Given the description of an element on the screen output the (x, y) to click on. 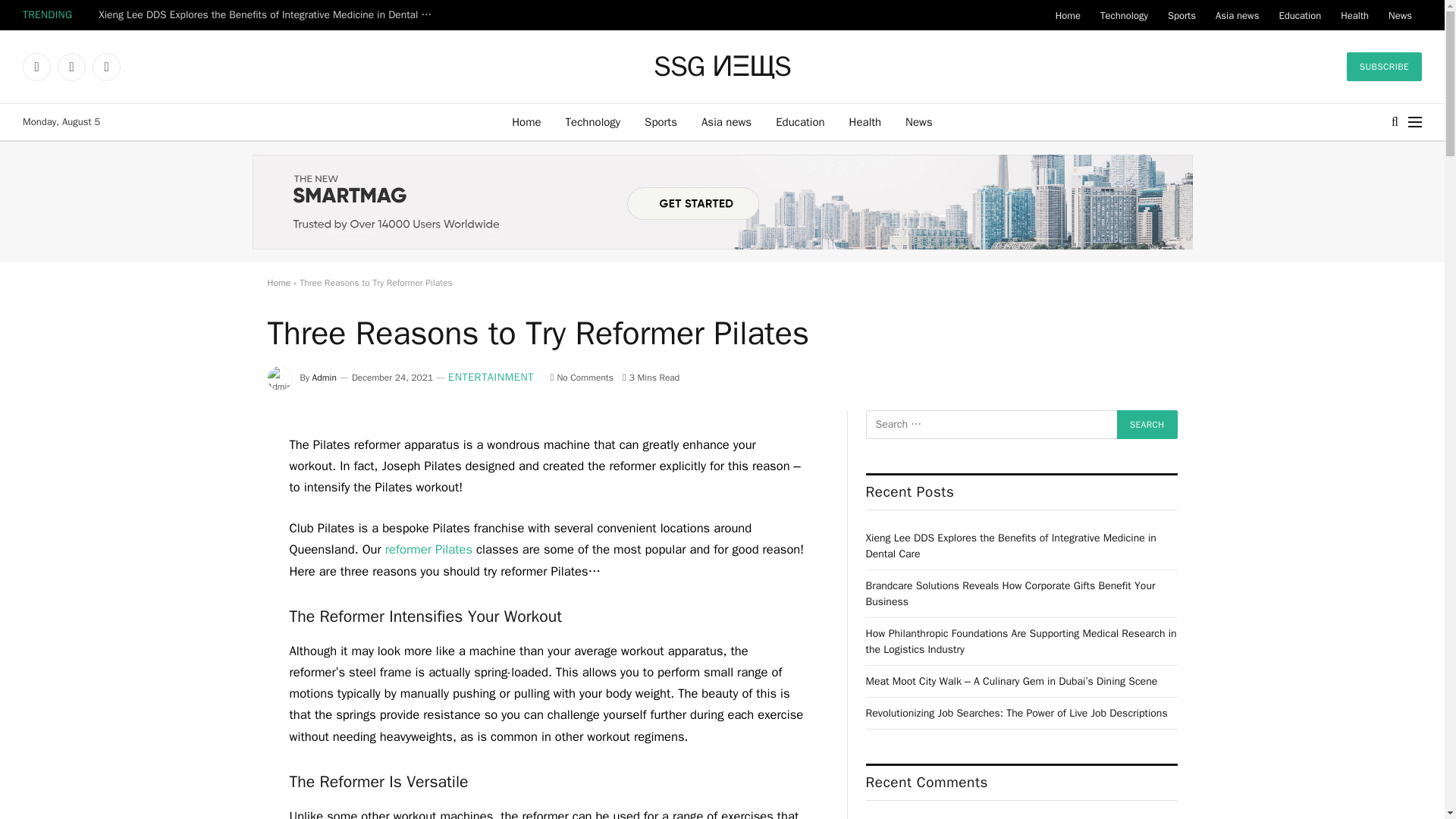
Home (526, 122)
Technology (1123, 15)
Education (1299, 15)
Search (1146, 424)
SUBSCRIBE (1384, 66)
News (1400, 15)
Technology (593, 122)
Education (798, 122)
Asia news (1236, 15)
Home (1067, 15)
Sports (659, 122)
Facebook (36, 67)
Sports (1181, 15)
Search (1146, 424)
Asia news (725, 122)
